Given the description of an element on the screen output the (x, y) to click on. 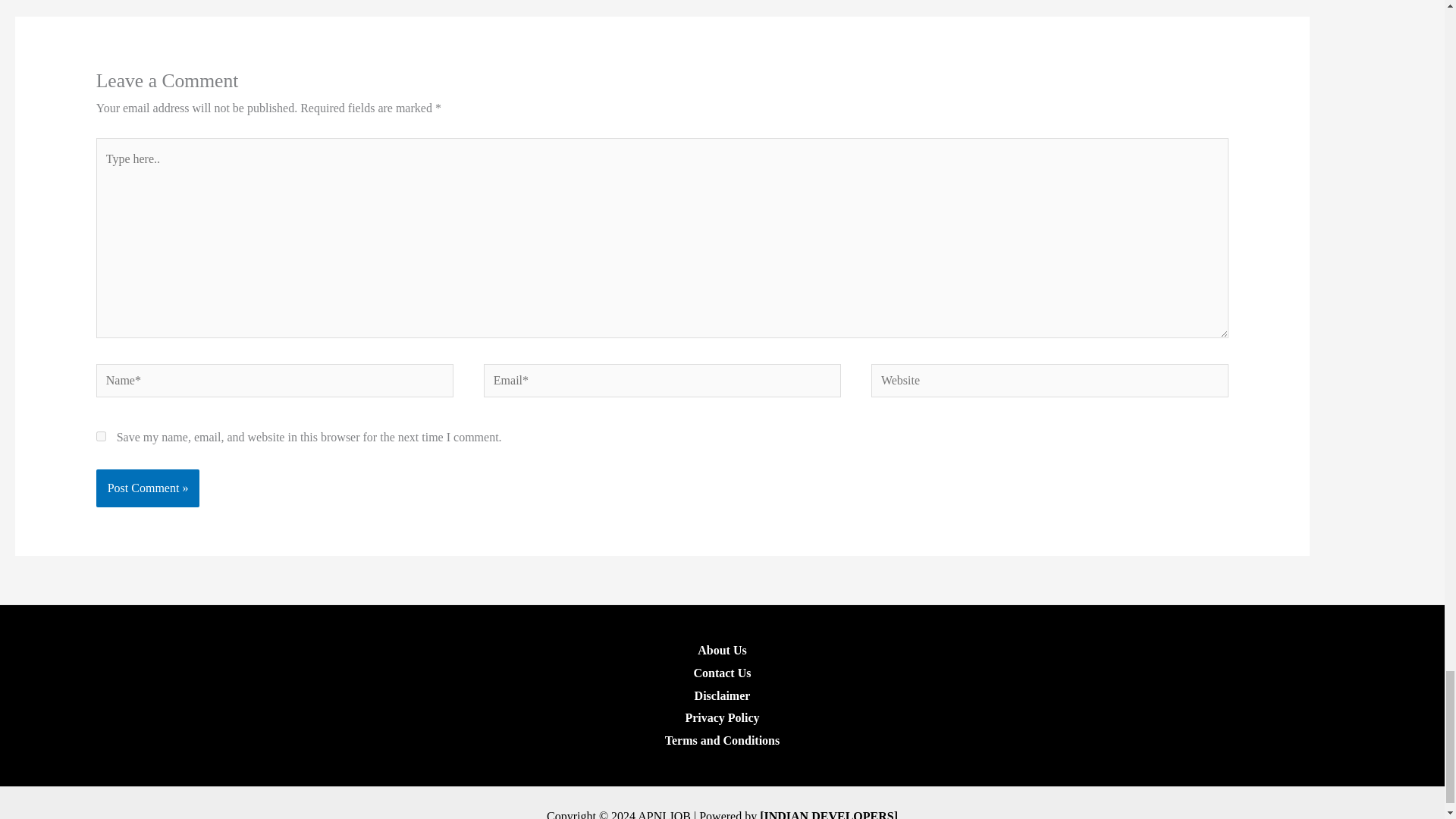
yes (101, 436)
